Given the description of an element on the screen output the (x, y) to click on. 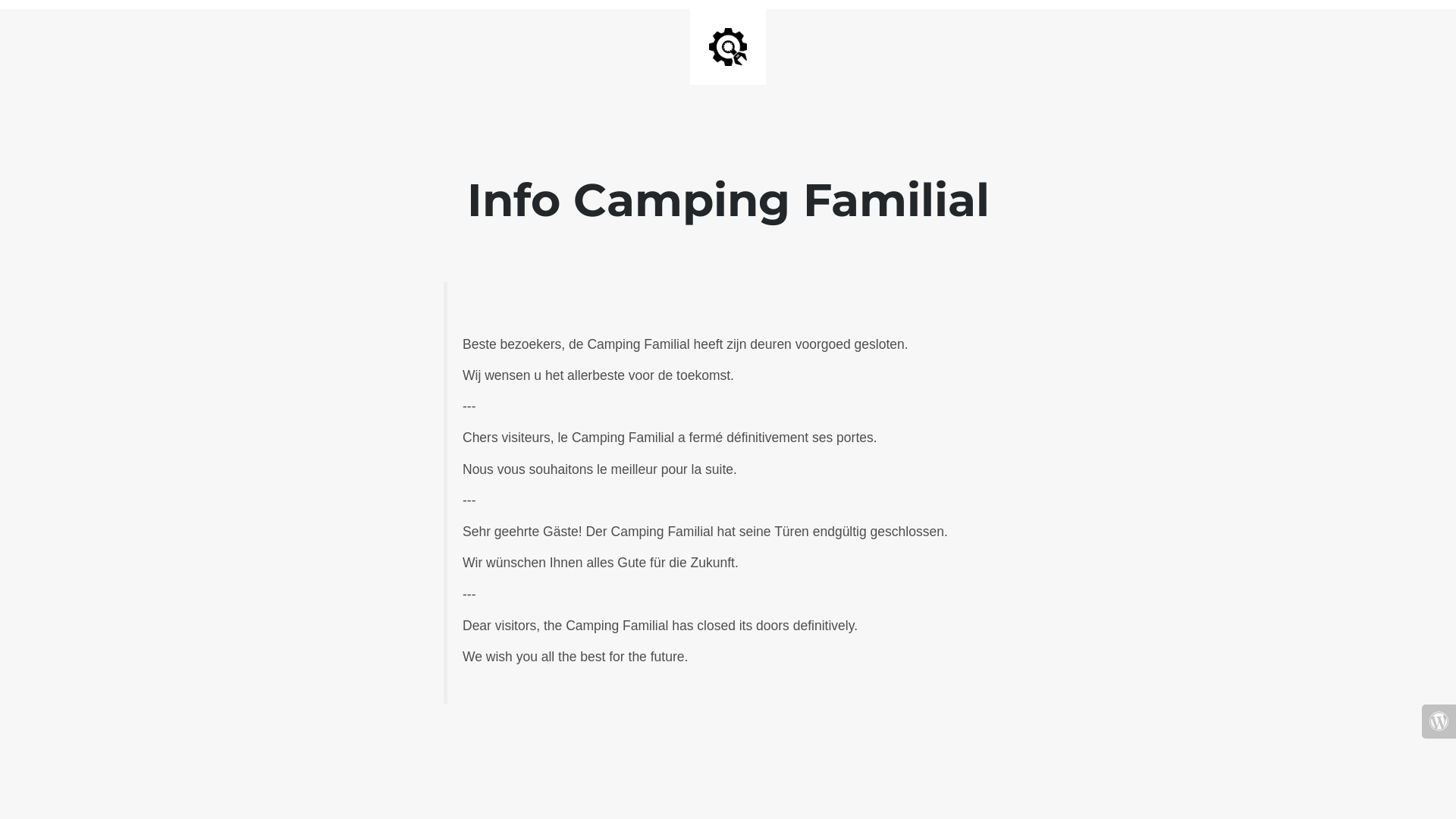
Site is Under Construction Element type: hover (727, 46)
